Given the description of an element on the screen output the (x, y) to click on. 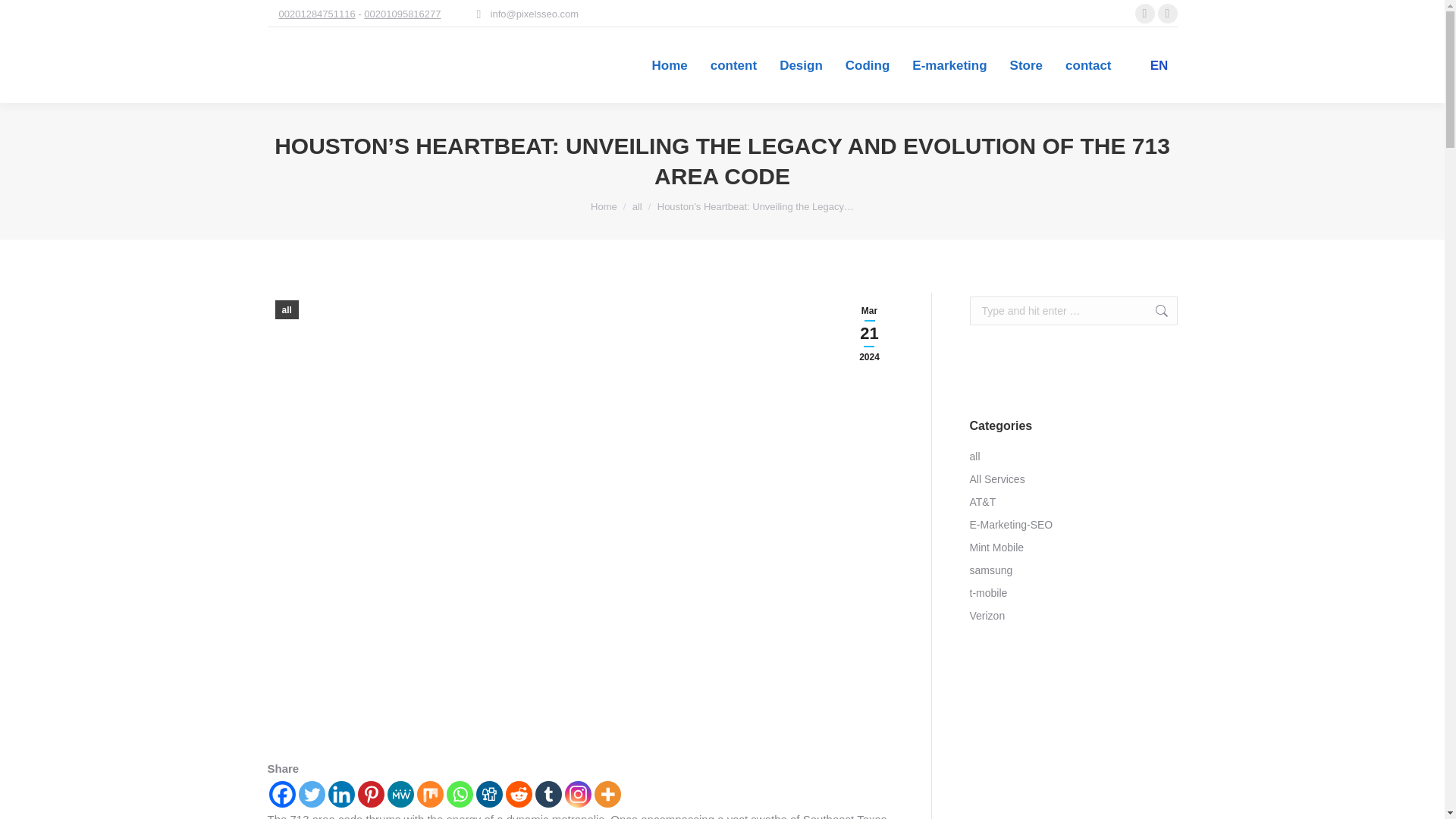
E-marketing (949, 64)
Design (801, 64)
Reddit (518, 794)
MeWe (400, 794)
Coding (868, 64)
content (733, 64)
Digg (489, 794)
00201284751116 (317, 13)
Whatsapp (458, 794)
Twitter page opens in new window (1166, 13)
Twitter (311, 794)
Facebook page opens in new window (1144, 13)
contact (1087, 64)
Twitter page opens in new window (1166, 13)
EN (1151, 64)
